Given the description of an element on the screen output the (x, y) to click on. 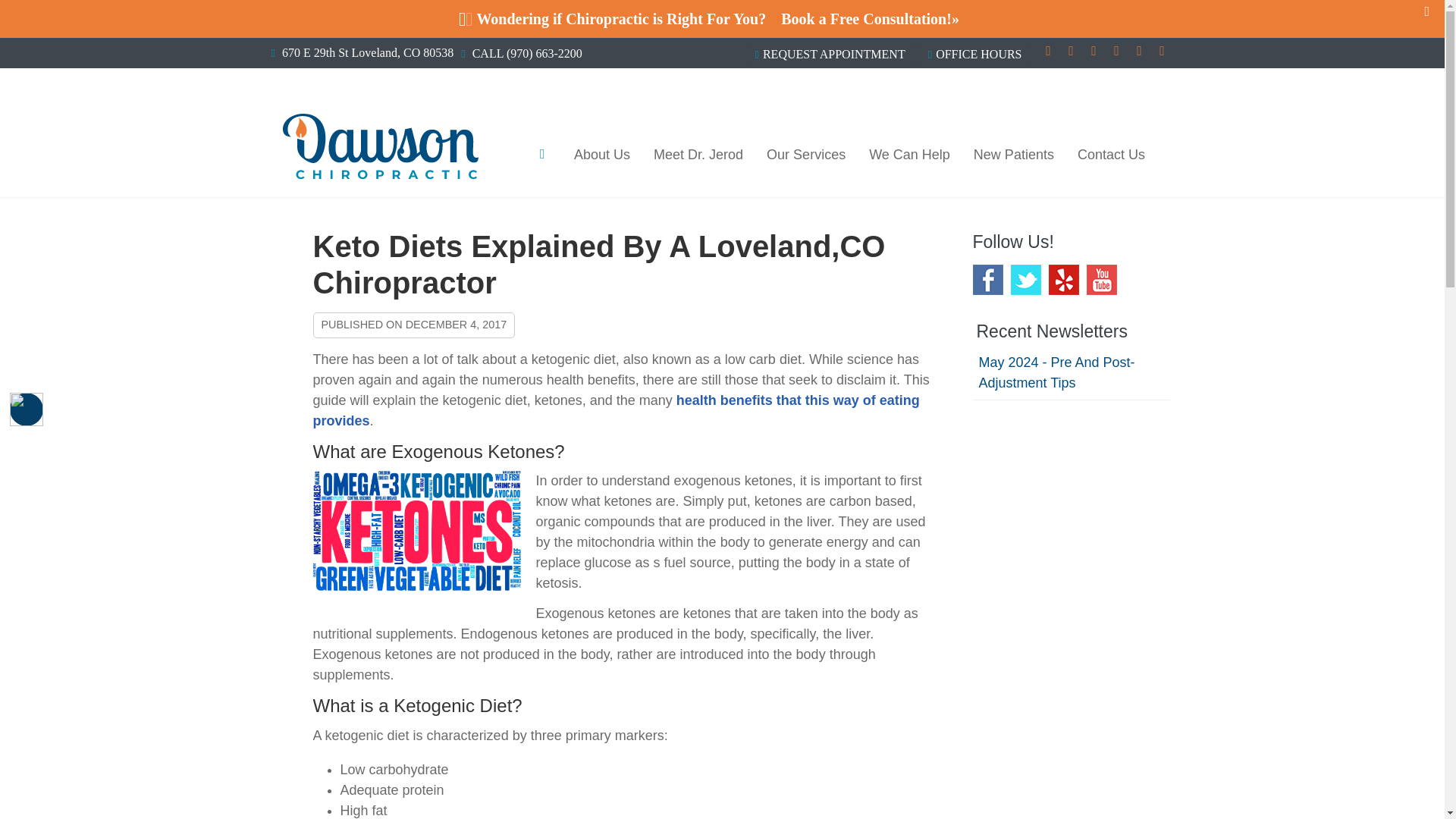
New Patients (1013, 154)
Contact Us (1110, 154)
Home (543, 153)
Accessibility Menu (26, 409)
Twitter Social Button (1115, 53)
Dawson Chiropractic (379, 174)
REQUEST APPOINTMENT (829, 53)
health benefits that this way of eating provides (615, 410)
Our Services (806, 154)
We Can Help (909, 154)
Google Social Button (1048, 53)
Youtube Social Button (1138, 53)
Recent Newlsetters List (1070, 373)
OFFICE HOURS (974, 53)
Welcome to Dawson Chiropractic (379, 174)
